Given the description of an element on the screen output the (x, y) to click on. 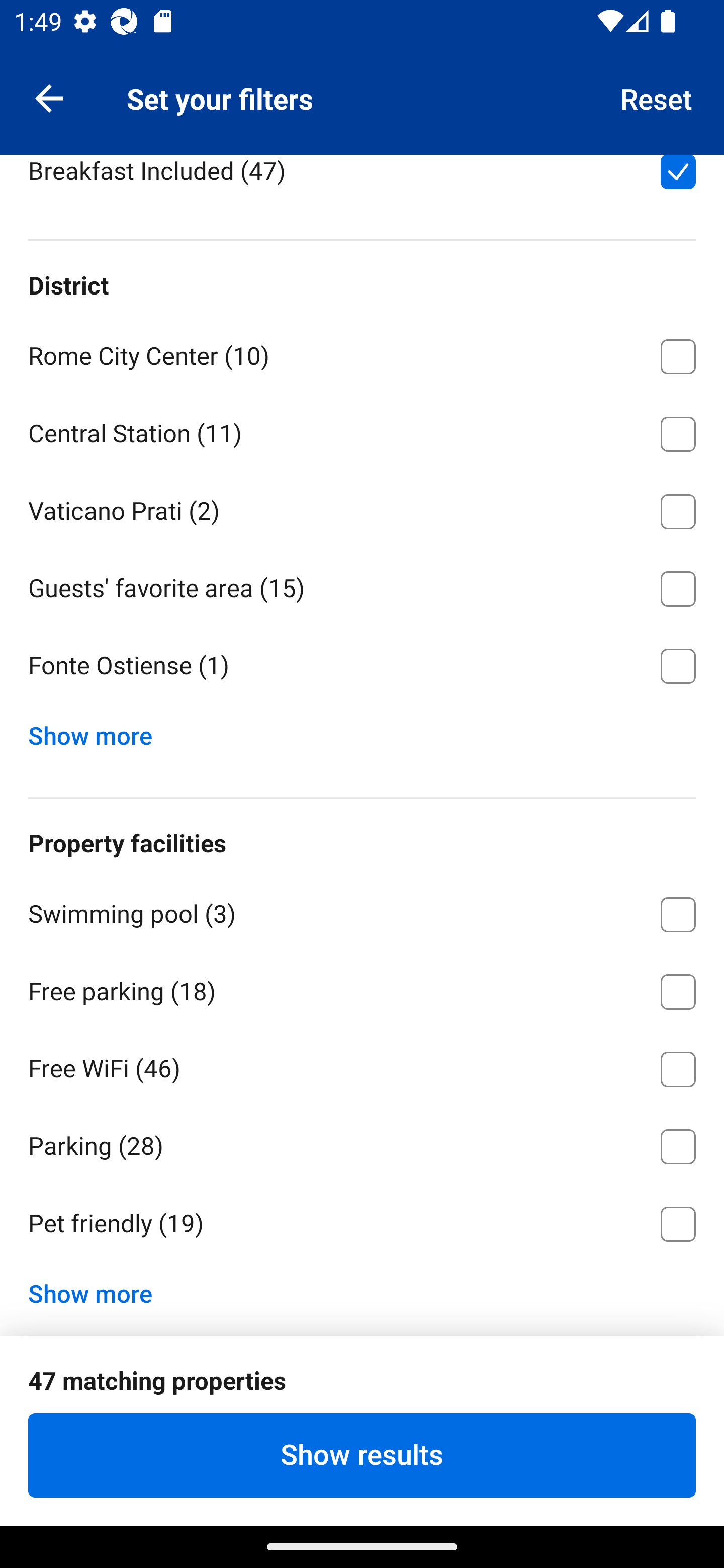
Navigate up (49, 97)
Reset (656, 97)
Breakfast Included ⁦(47) (361, 182)
Rome City Center ⁦(10) (361, 353)
Central Station ⁦(11) (361, 430)
Vaticano Prati ⁦(2) (361, 507)
Guests' favorite area ⁦(15) (361, 585)
Fonte Ostiense ⁦(1) (361, 666)
Show more (97, 731)
Swimming pool ⁦(3) (361, 910)
Free parking ⁦(18) (361, 988)
Free WiFi ⁦(46) (361, 1065)
Parking ⁦(28) (361, 1142)
Pet friendly ⁦(19) (361, 1224)
Show more (97, 1289)
Show results (361, 1454)
